Given the description of an element on the screen output the (x, y) to click on. 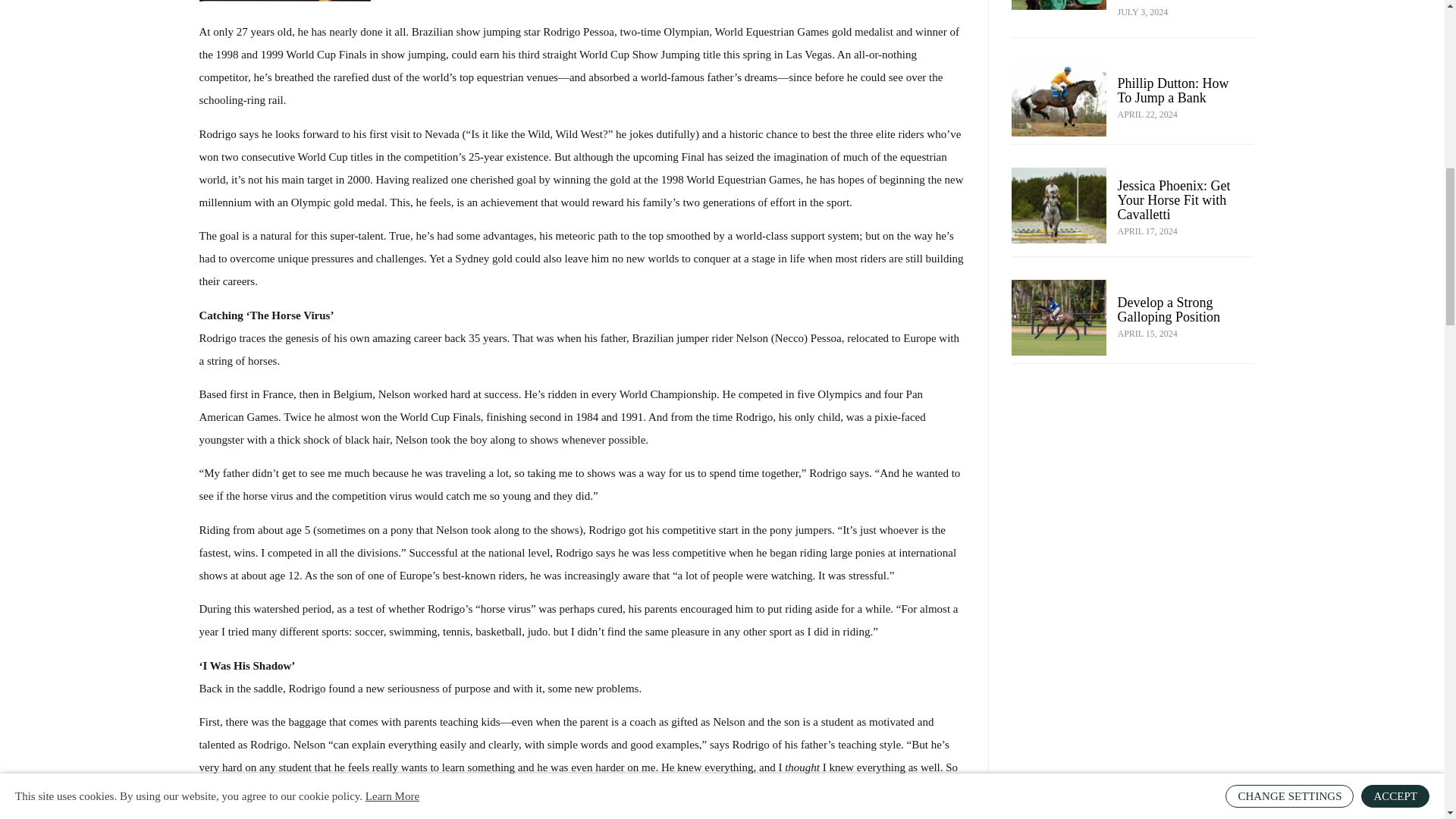
Phillip Dutton: How To Jump a Bank (1058, 98)
Jessica Phoenix: Get Your Horse Fit with Cavalletti (1058, 205)
Jessica Phoenix: Get Your Horse Fit with Cavalletti (1174, 199)
Develop a Strong Galloping Position (1058, 317)
3rd party ad content (1132, 481)
Phillip Dutton: How To Jump a Bank (1173, 90)
Develop a Strong Galloping Position (1169, 309)
